Given the description of an element on the screen output the (x, y) to click on. 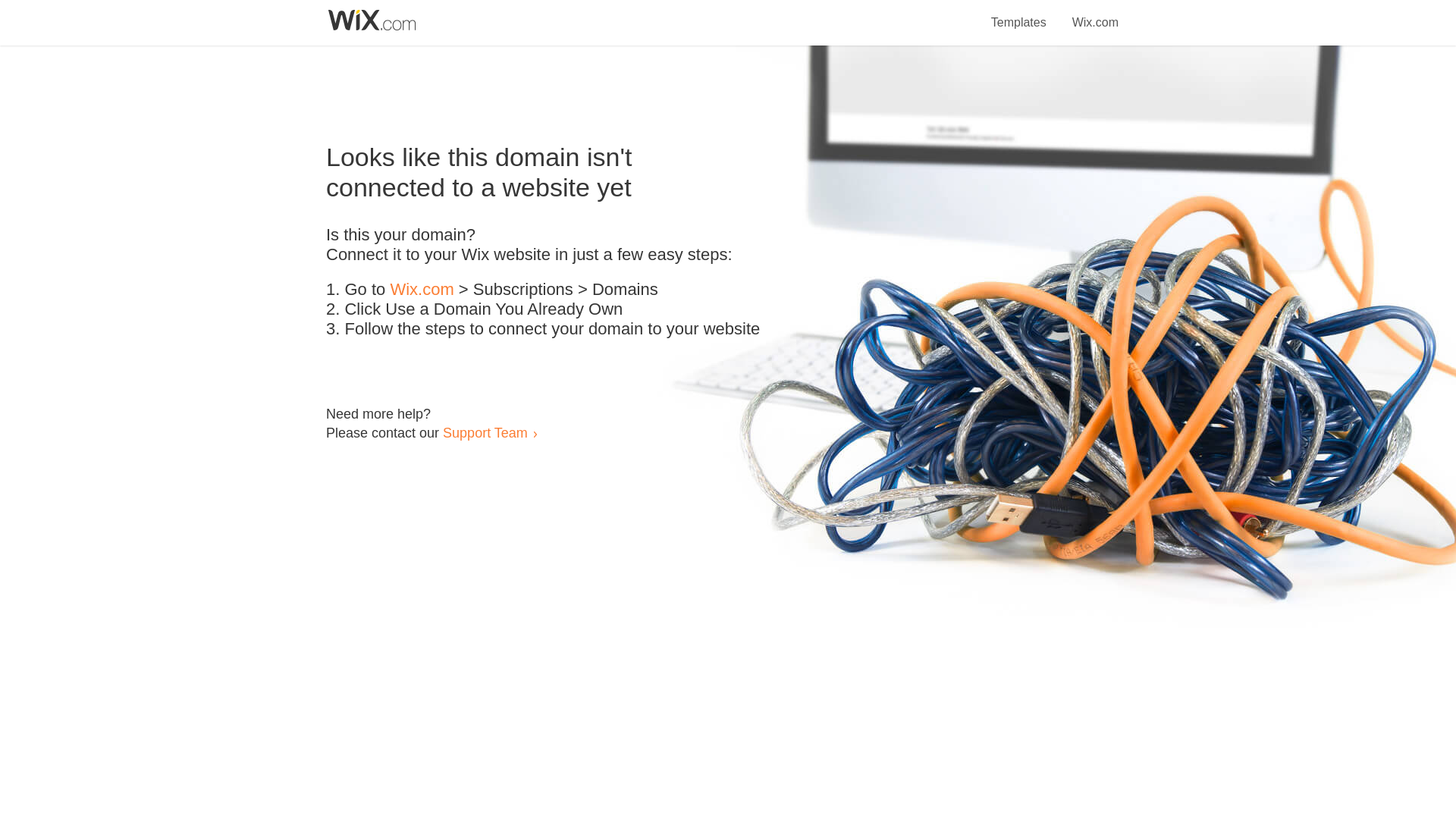
Support Team (484, 432)
Wix.com (421, 289)
Wix.com (1095, 14)
Templates (1018, 14)
